Given the description of an element on the screen output the (x, y) to click on. 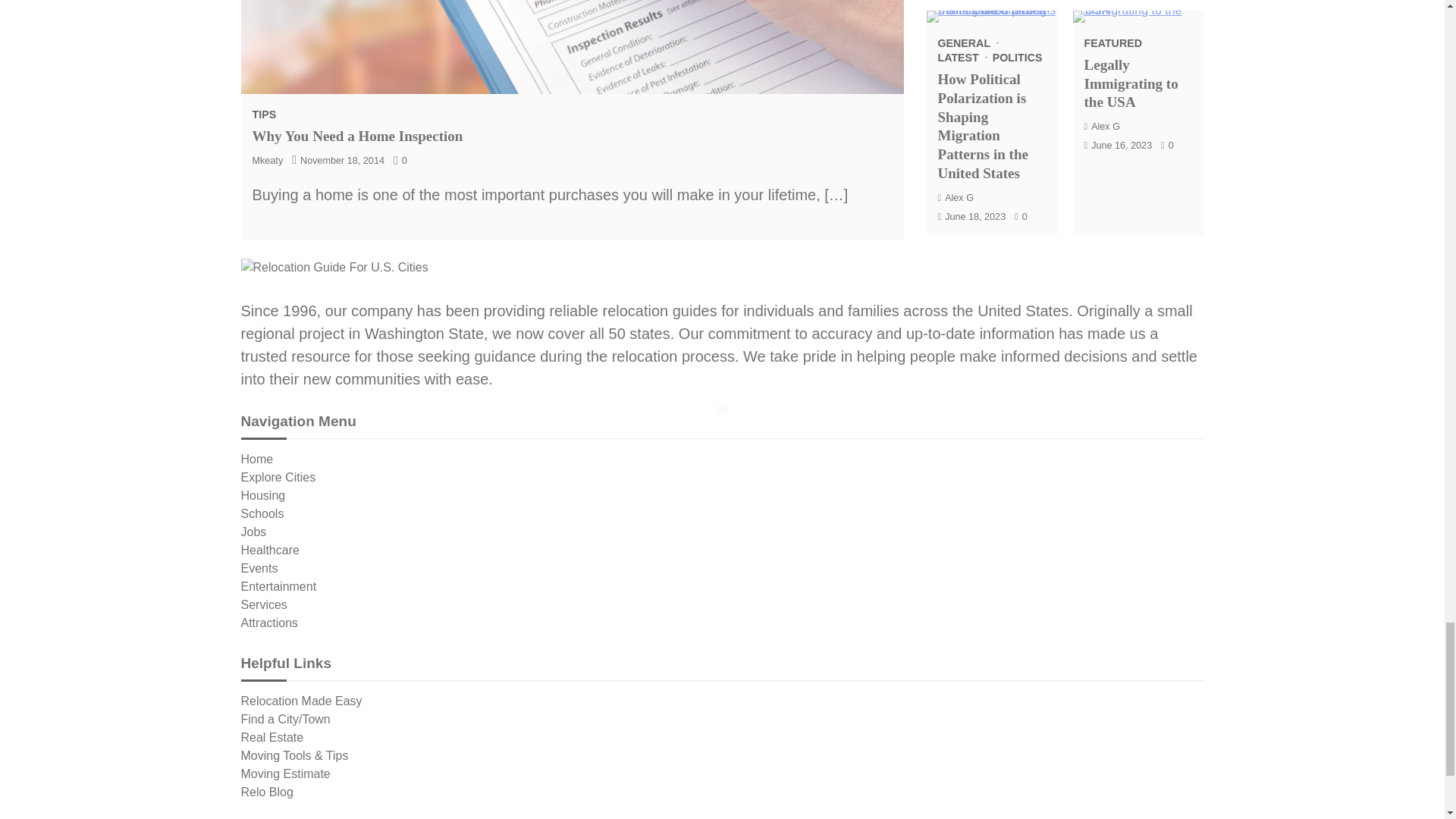
Why You Need a Home Inspection (357, 135)
Mkeaty (266, 160)
TIPS (263, 113)
